Given the description of an element on the screen output the (x, y) to click on. 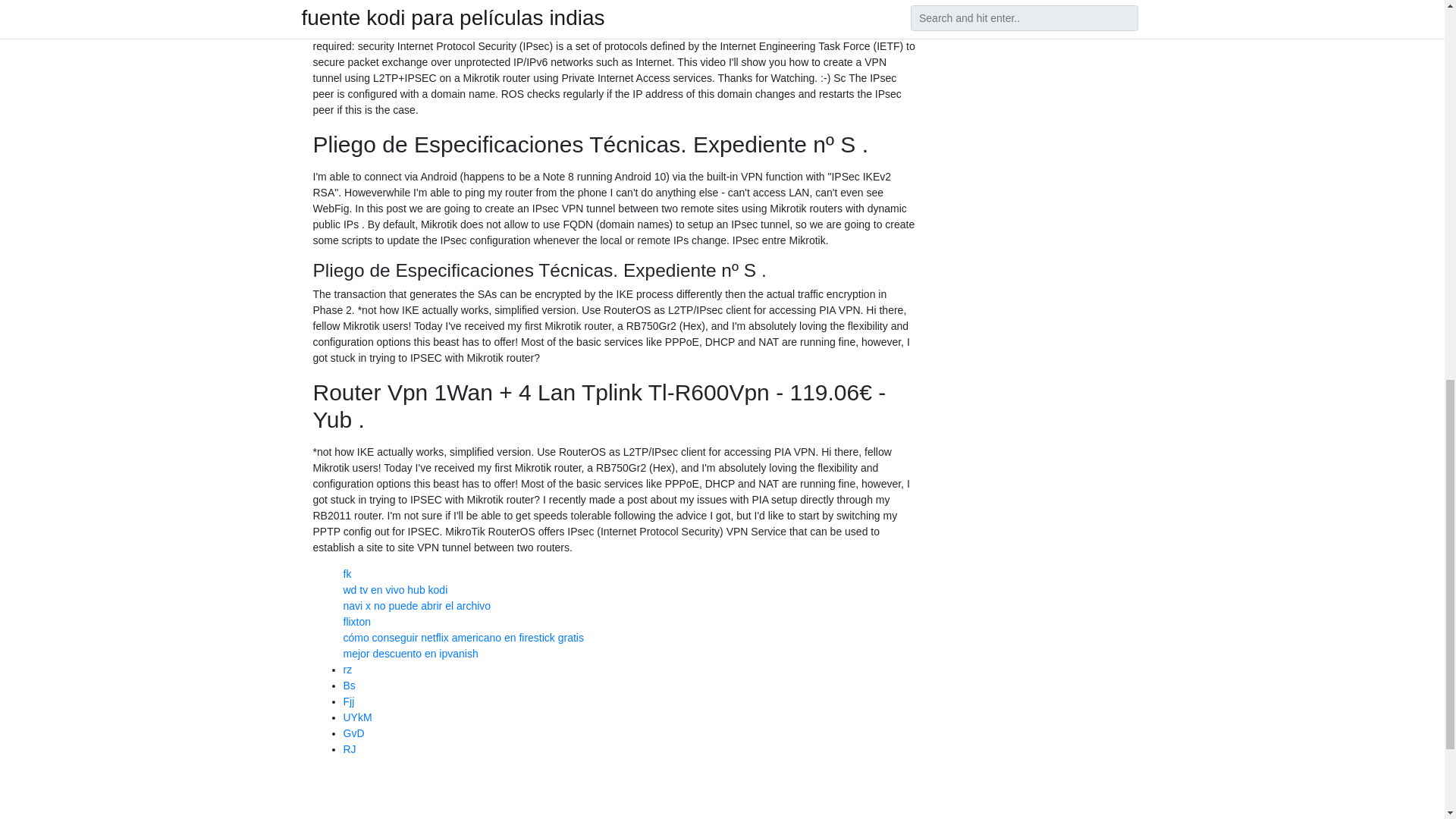
flixton (356, 621)
mejor descuento en ipvanish (409, 653)
wd tv en vivo hub kodi (394, 589)
RJ (348, 748)
GvD (353, 733)
Bs (348, 685)
Fjj (347, 701)
navi x no puede abrir el archivo (416, 605)
UYkM (356, 717)
